Given the description of an element on the screen output the (x, y) to click on. 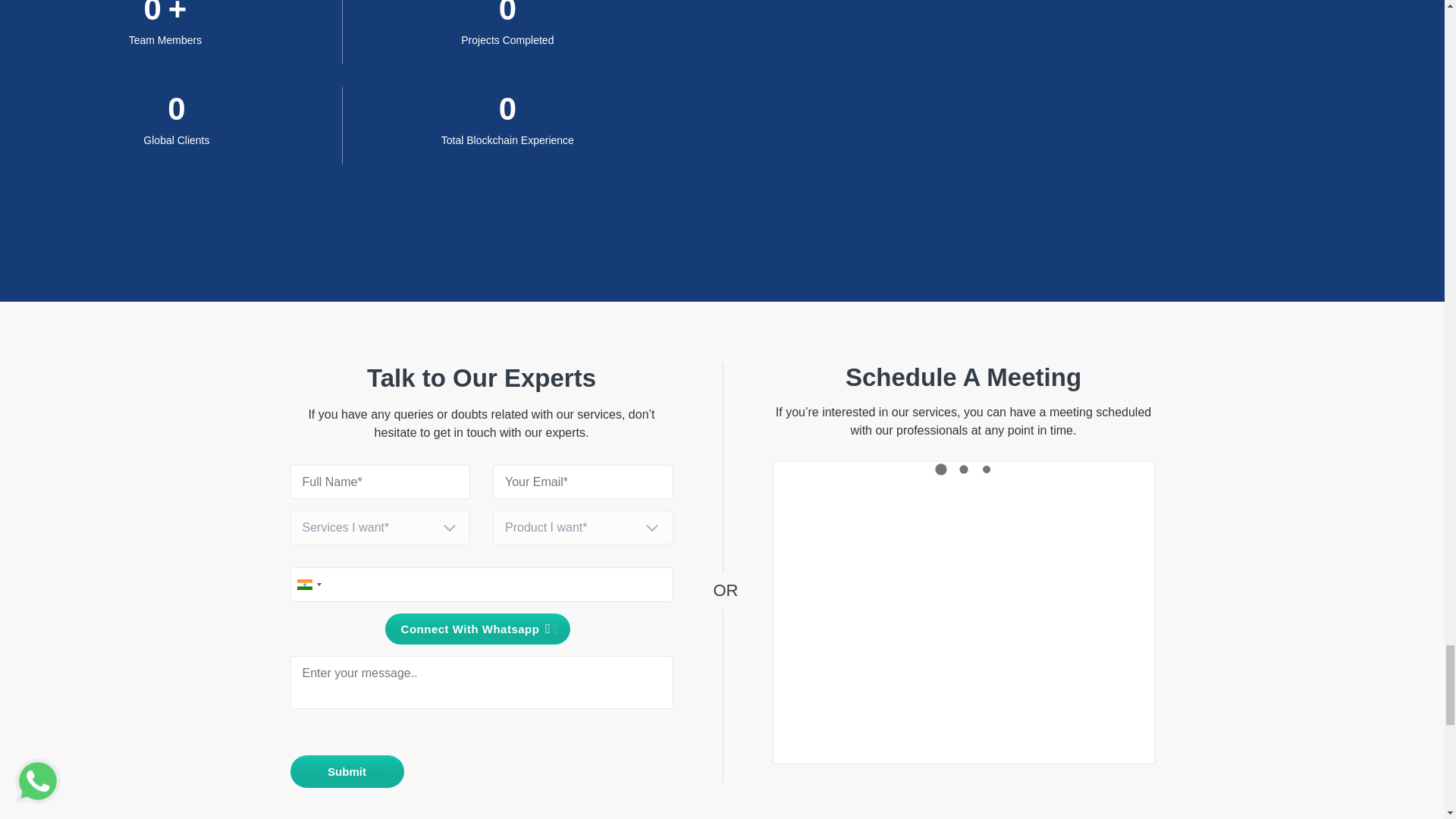
Submit (346, 771)
